Given the description of an element on the screen output the (x, y) to click on. 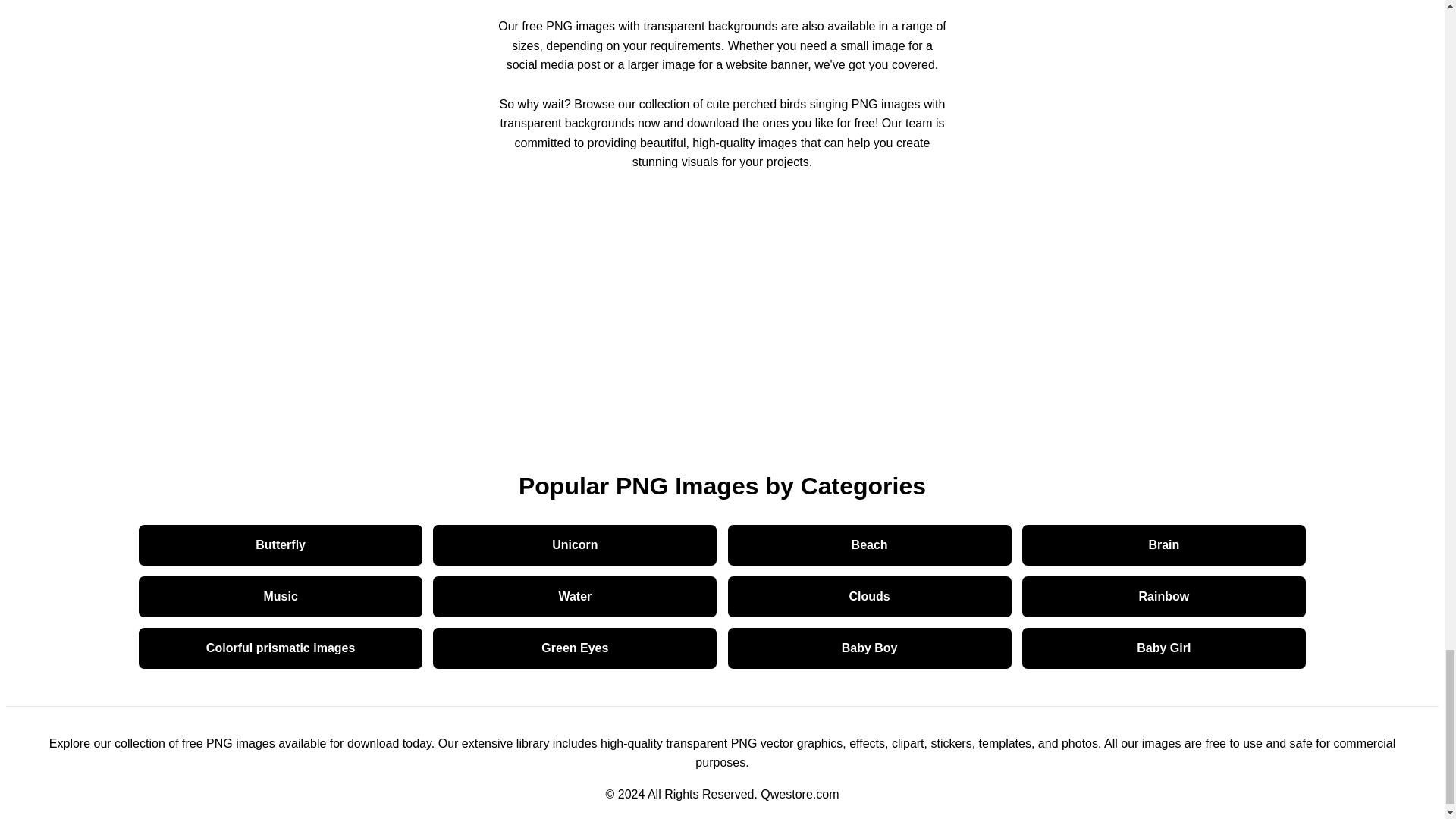
Rainbow (1164, 596)
Music (280, 596)
Colorful prismatic images (280, 648)
Green Eyes (574, 648)
Clouds (869, 596)
Butterfly (280, 544)
Water (574, 596)
Unicorn (574, 544)
Baby Boy (869, 648)
Baby Girl (1164, 648)
Brain (1164, 544)
Beach (869, 544)
